Given the description of an element on the screen output the (x, y) to click on. 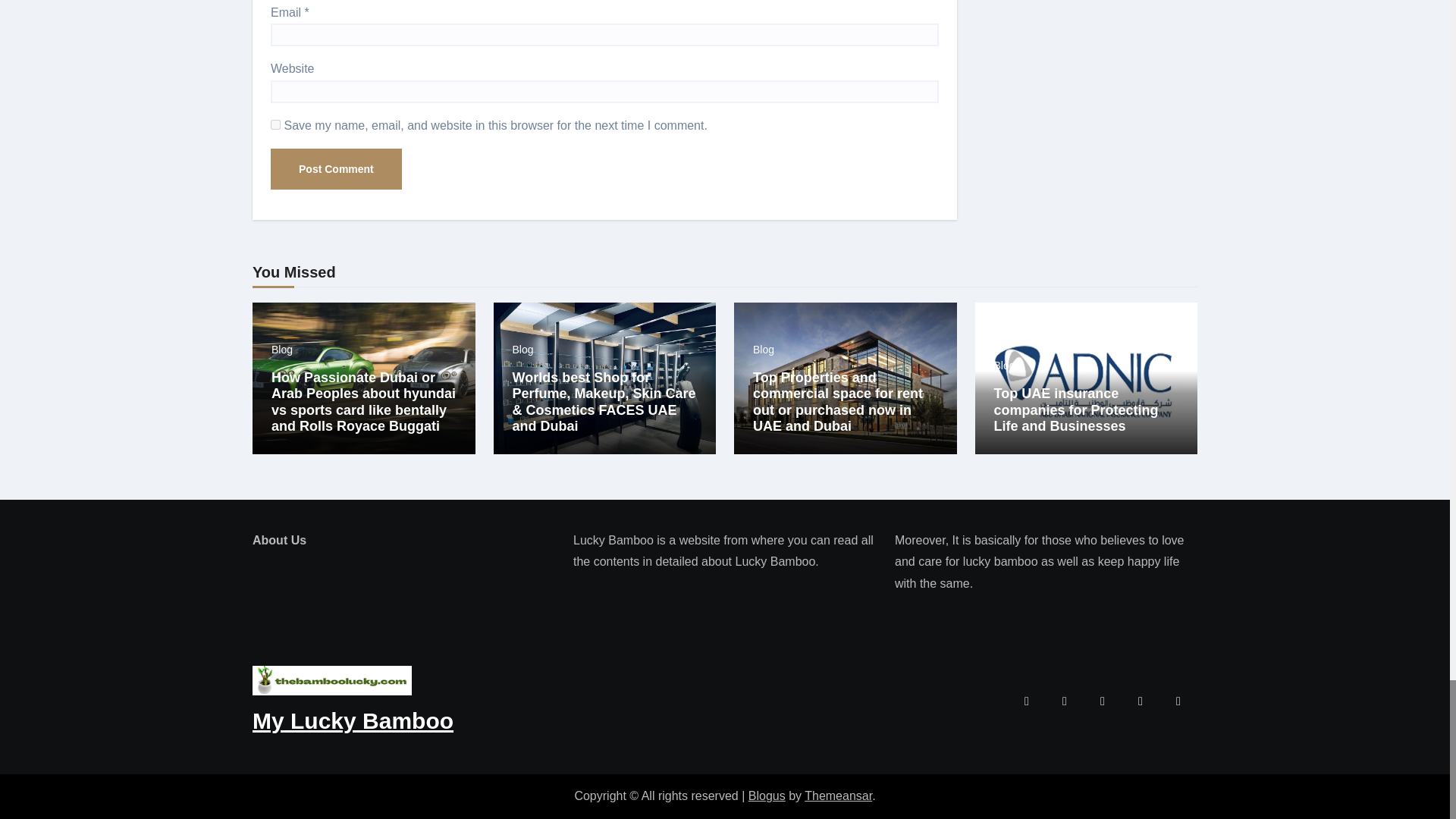
Post Comment (335, 168)
yes (275, 124)
